Given the description of an element on the screen output the (x, y) to click on. 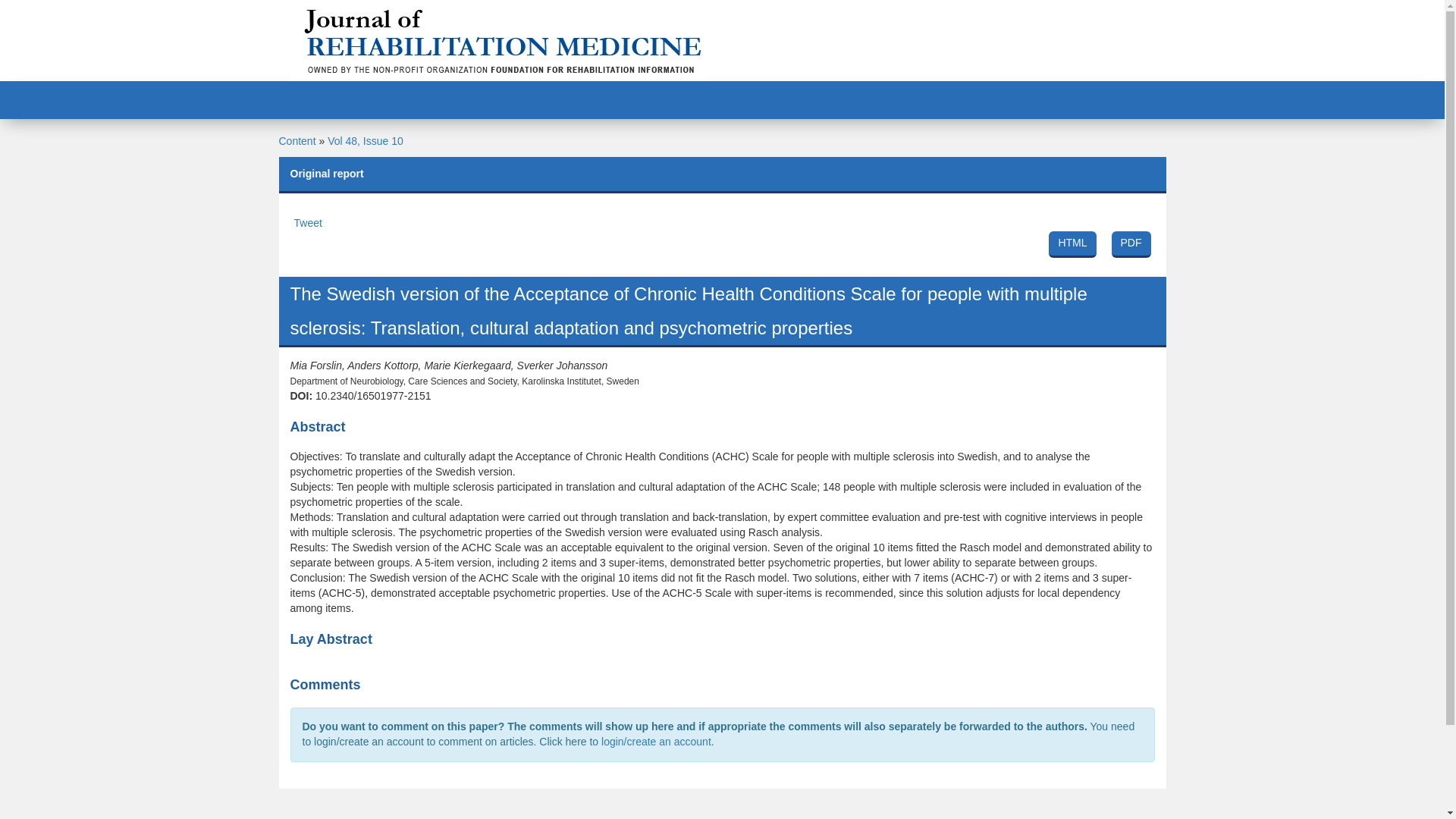
Vol 48, Issue 10 (722, 242)
Content (365, 141)
Tweet (297, 141)
PDF (307, 223)
HTML (1131, 243)
